Given the description of an element on the screen output the (x, y) to click on. 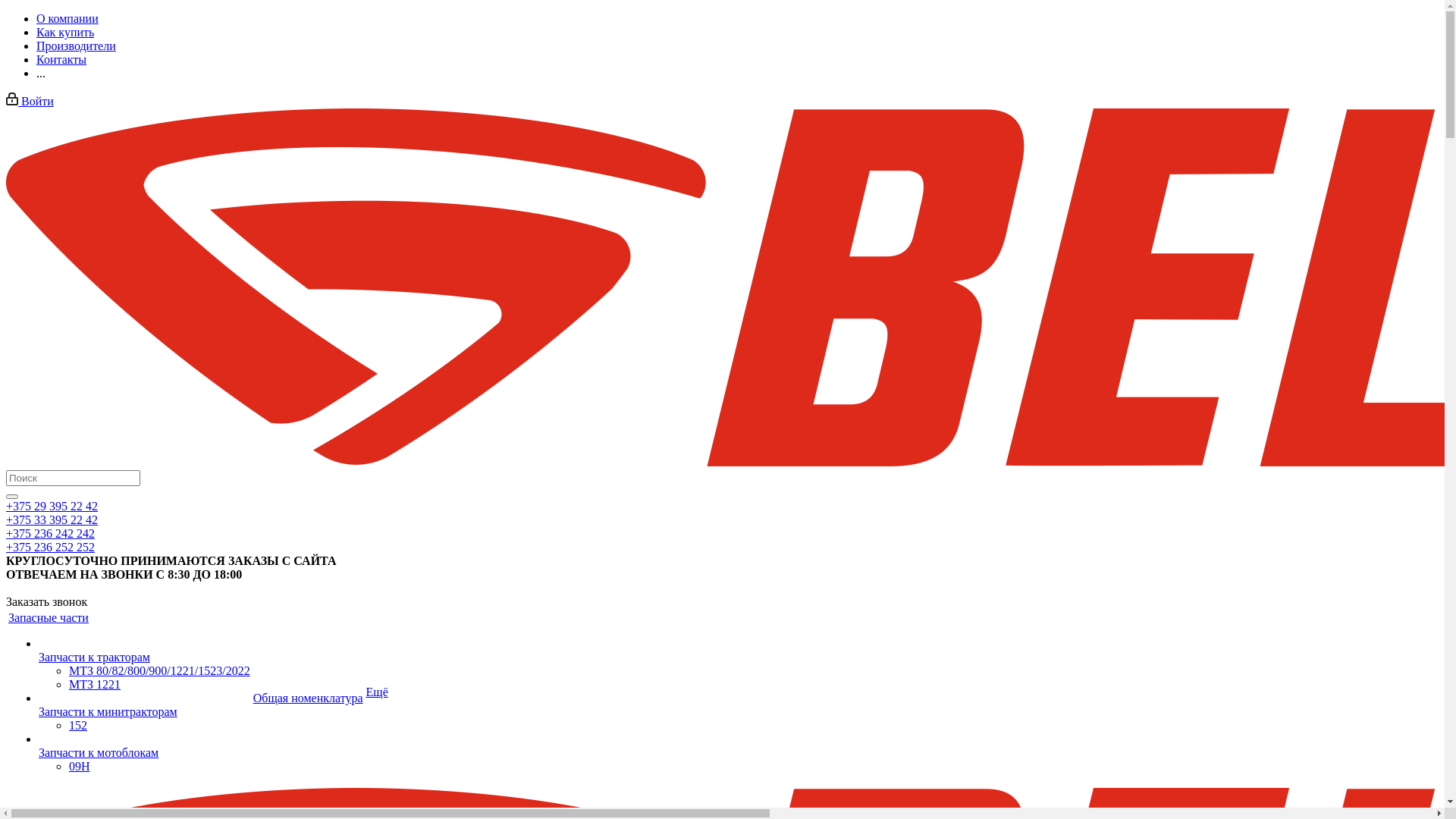
+375 236 252 252 Element type: text (50, 546)
152 Element type: text (78, 724)
+375 236 242 242 Element type: text (50, 533)
+375 33 395 22 42 Element type: text (51, 519)
+375 29 395 22 42 Element type: text (51, 505)
